Given the description of an element on the screen output the (x, y) to click on. 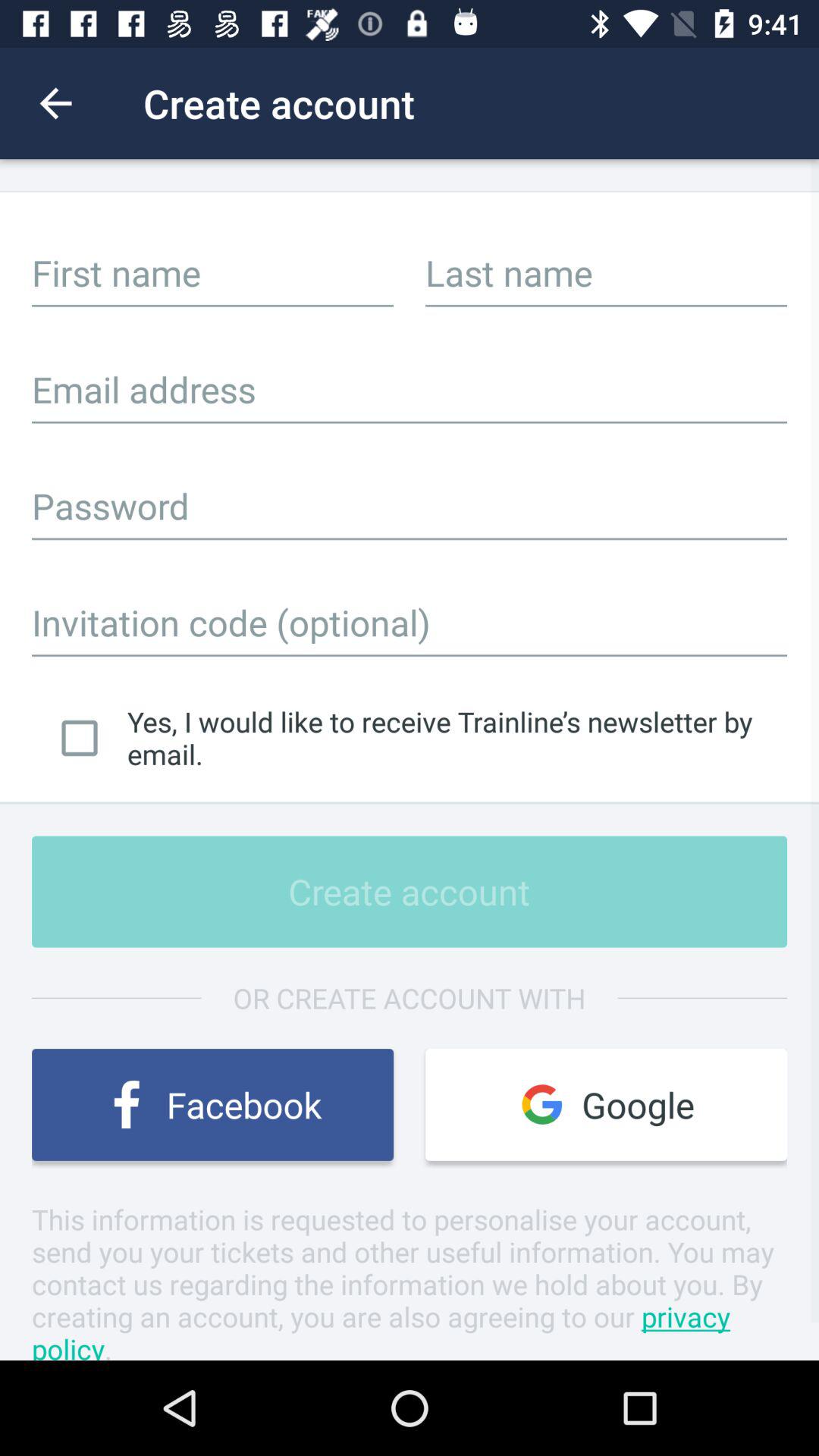
type last name (606, 272)
